Given the description of an element on the screen output the (x, y) to click on. 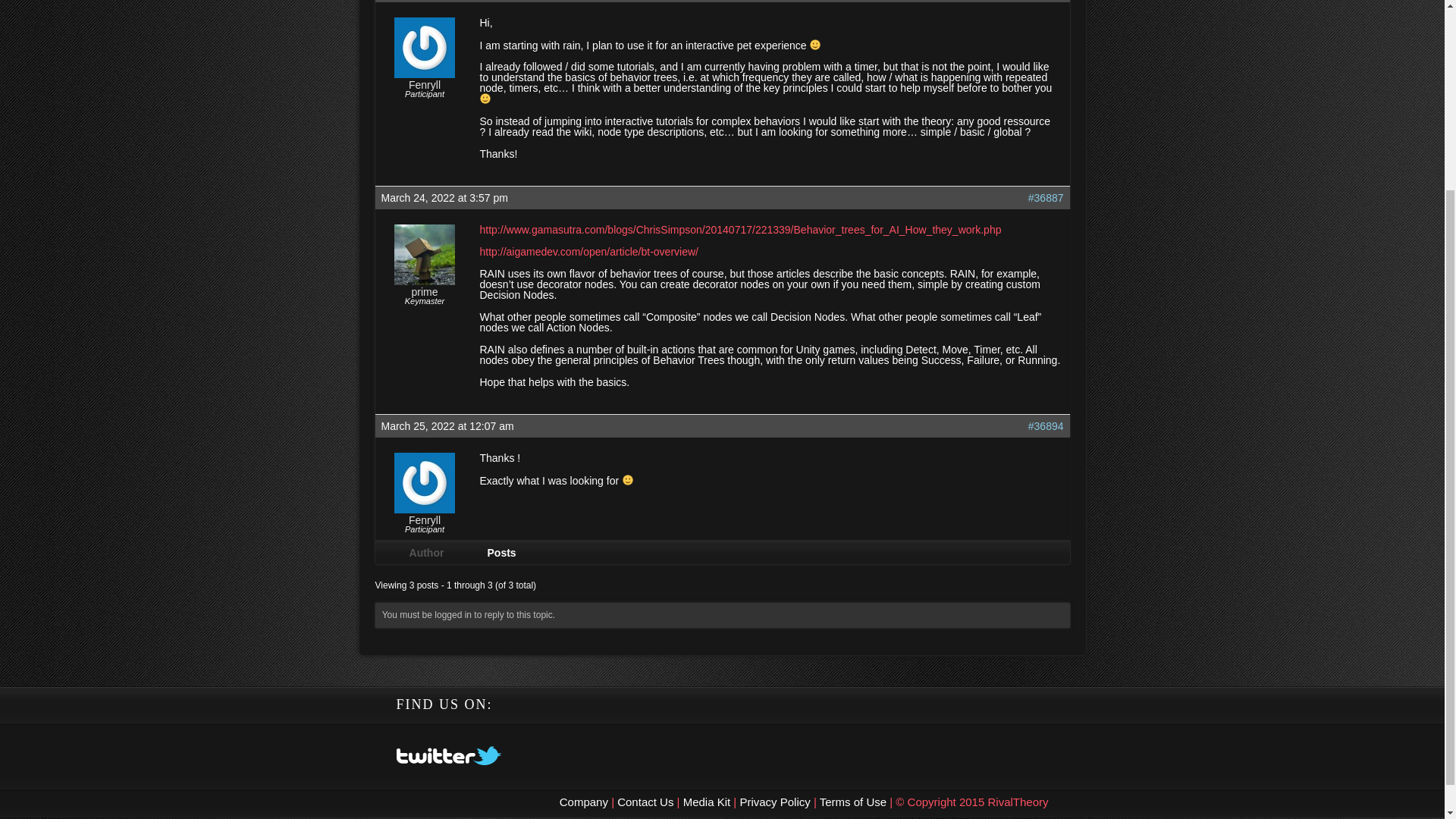
View prime's profile (424, 281)
Company (585, 801)
Fenryll (425, 84)
View Fenryll's profile (425, 520)
Contact Us (645, 801)
View Fenryll's profile (424, 509)
Privacy Policy (776, 801)
prime (424, 291)
Fenryll (425, 520)
Terms of Use (854, 801)
